Given the description of an element on the screen output the (x, y) to click on. 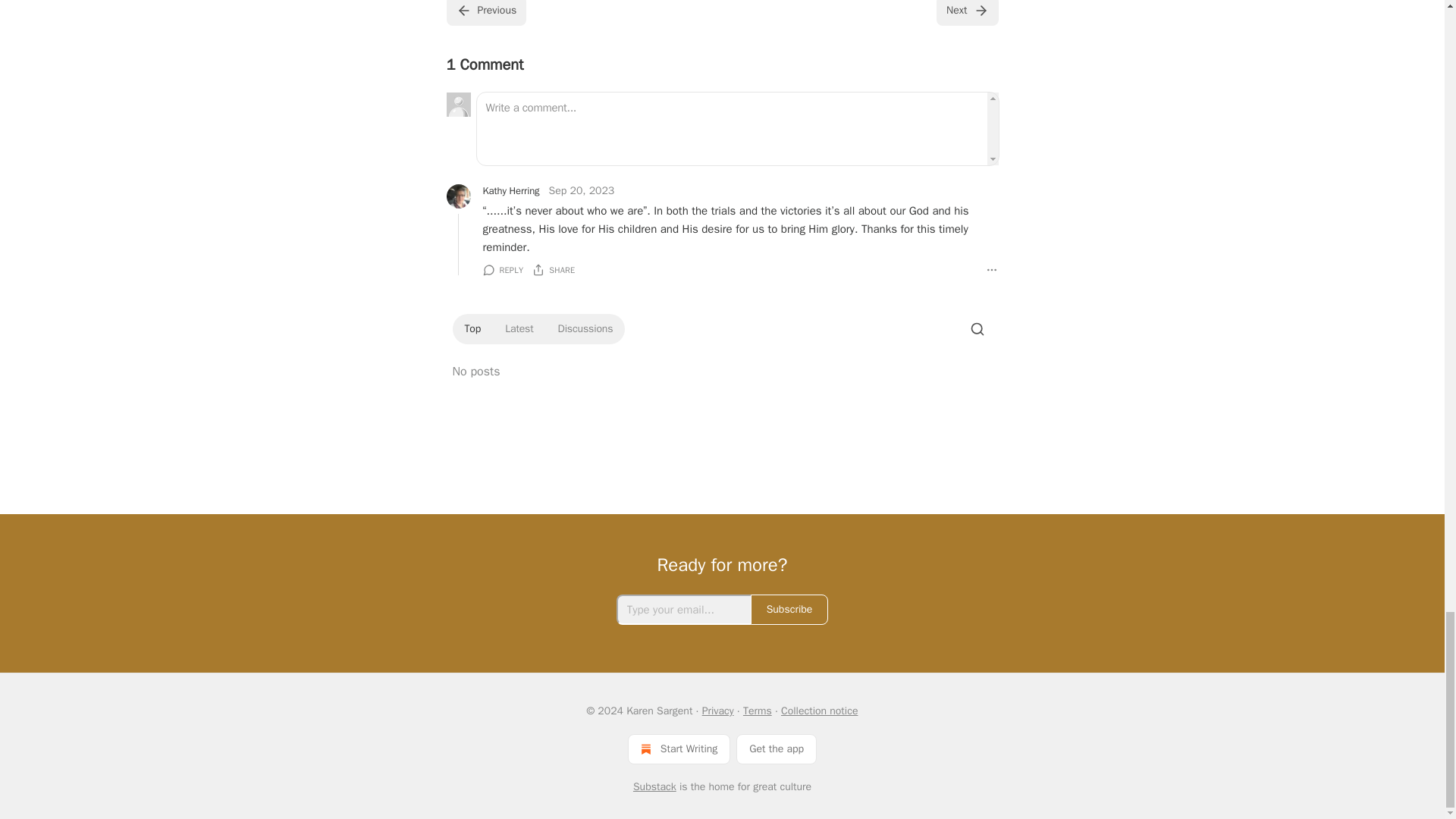
REPLY (501, 269)
Sep 20, 2023 (581, 191)
Kathy Herring (509, 191)
Previous (485, 12)
SHARE (553, 269)
Next (966, 12)
